Given the description of an element on the screen output the (x, y) to click on. 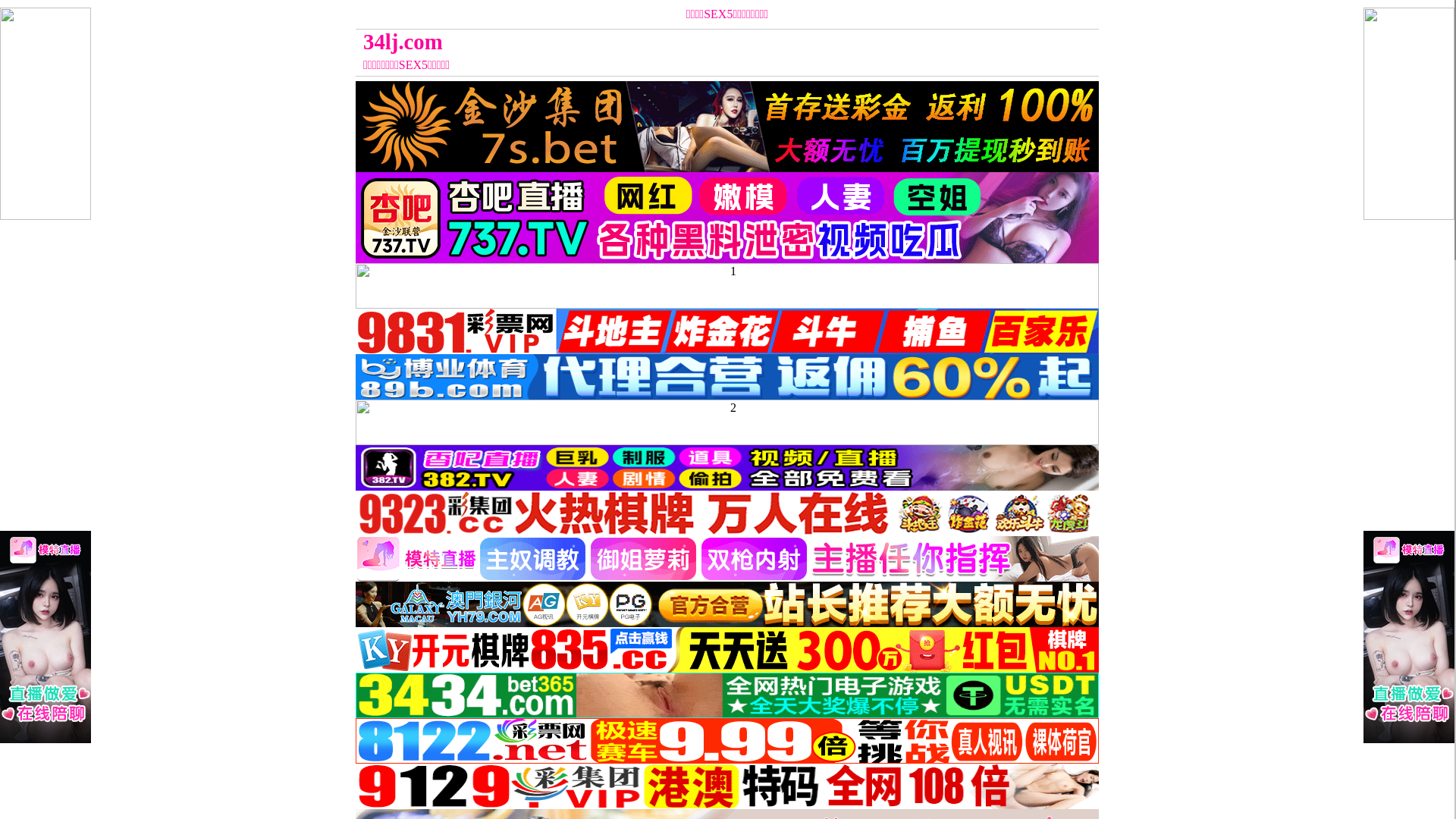
34lj.com Element type: text (634, 41)
